Given the description of an element on the screen output the (x, y) to click on. 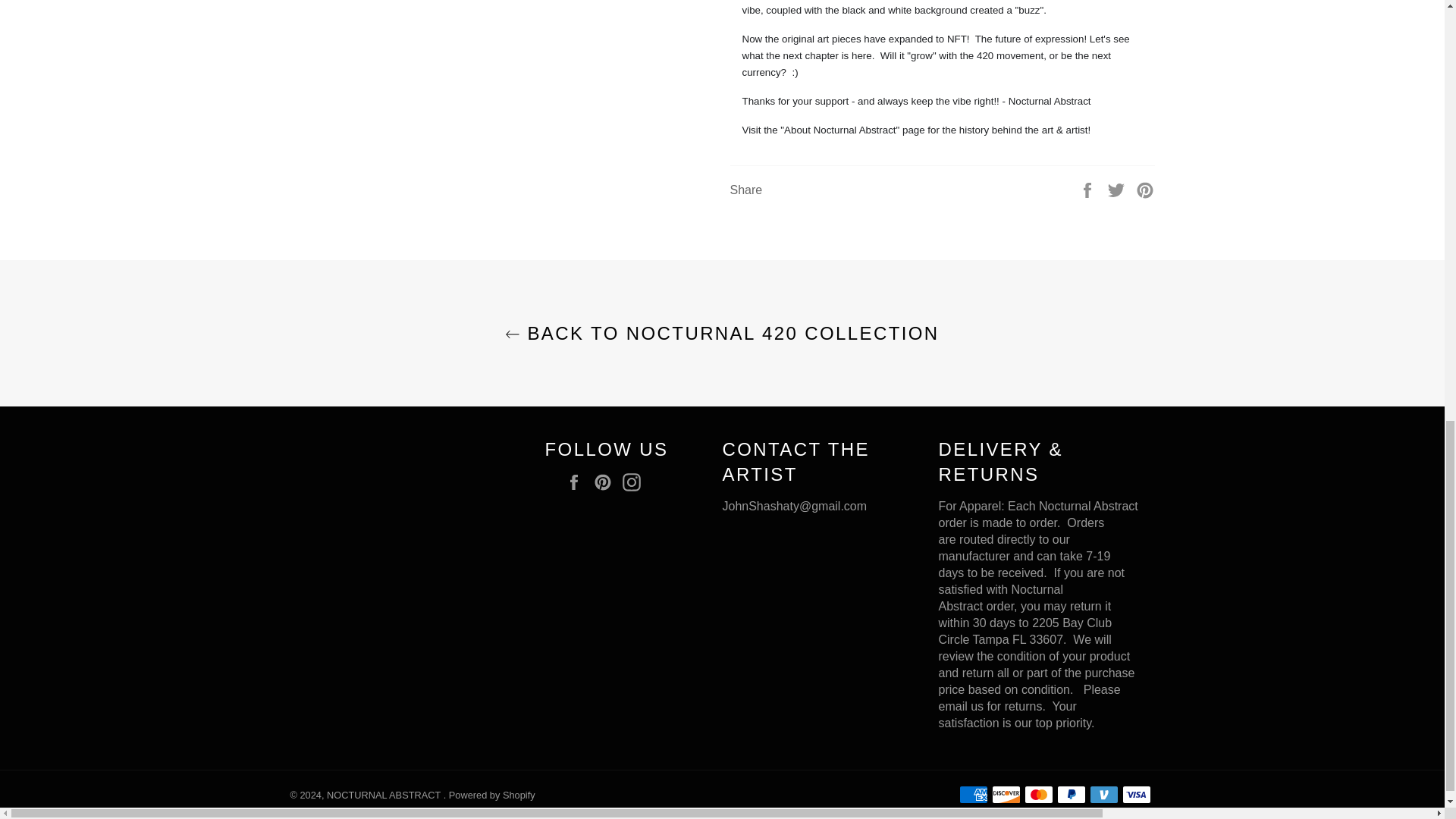
NOCTURNAL ABSTRACT (385, 794)
Pinterest (607, 482)
Tweet on Twitter (1117, 188)
NOCTURNAL ABSTRACT  on Facebook (577, 482)
Facebook (577, 482)
Instagram (635, 482)
Tweet on Twitter (1117, 188)
NOCTURNAL ABSTRACT  on Pinterest (607, 482)
Pin on Pinterest (1144, 188)
Share on Facebook (1088, 188)
Share on Facebook (1088, 188)
NOCTURNAL ABSTRACT  on Instagram (635, 482)
Pin on Pinterest (1144, 188)
BACK TO NOCTURNAL 420 COLLECTION (721, 333)
